Given the description of an element on the screen output the (x, y) to click on. 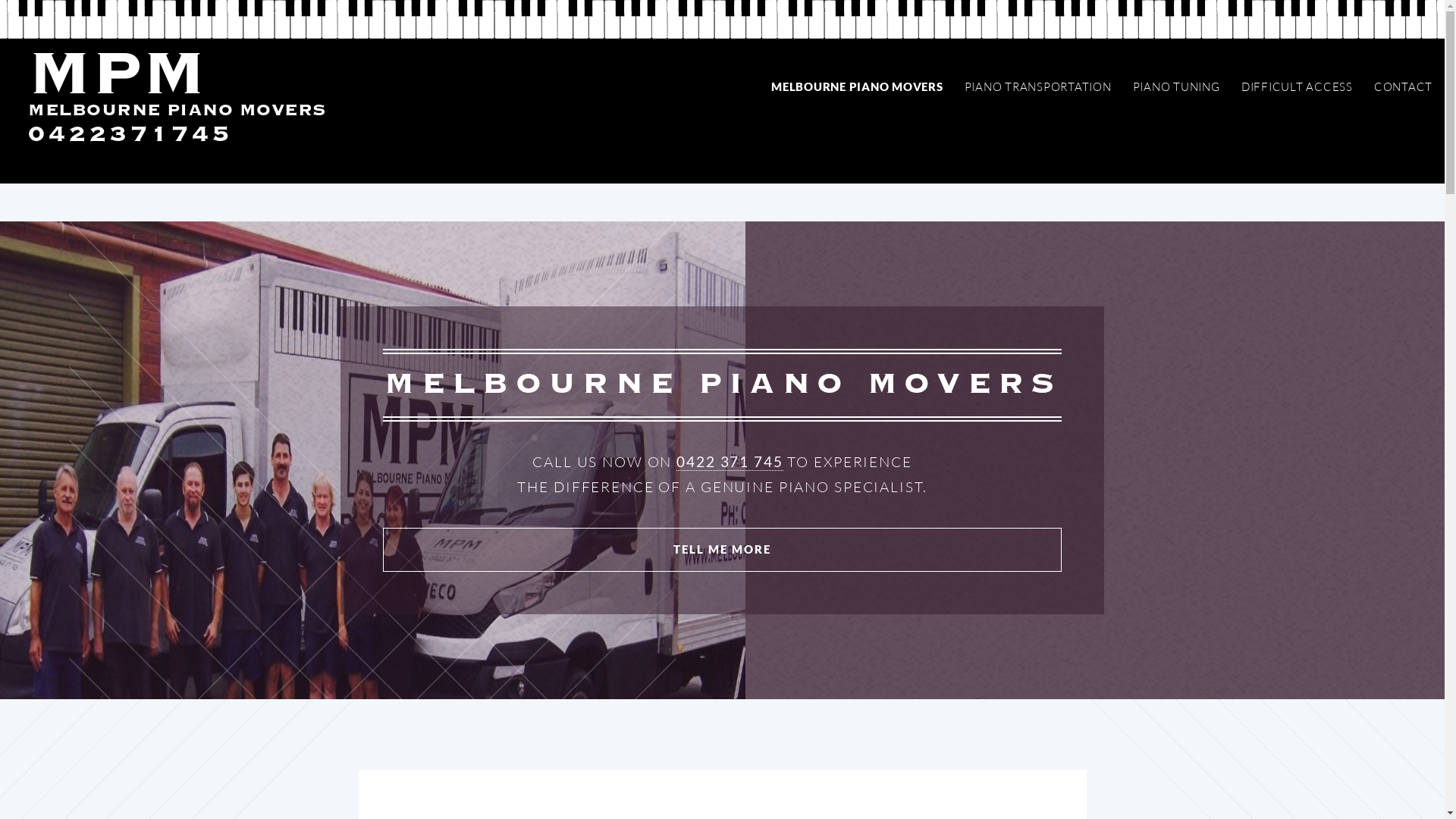
TELL ME MORE Element type: text (721, 549)
MELBOURNE PIANO MOVERS Element type: text (857, 86)
MPM 
MELBOURNE PIANO MOVERS Element type: text (176, 101)
PIANO TRANSPORTATION Element type: text (1037, 87)
CONTACT Element type: text (1402, 87)
PIANO TUNING Element type: text (1176, 87)
0422371745 Element type: text (130, 134)
0422 371 745 Element type: text (729, 461)
DIFFICULT ACCESS Element type: text (1296, 87)
